Given the description of an element on the screen output the (x, y) to click on. 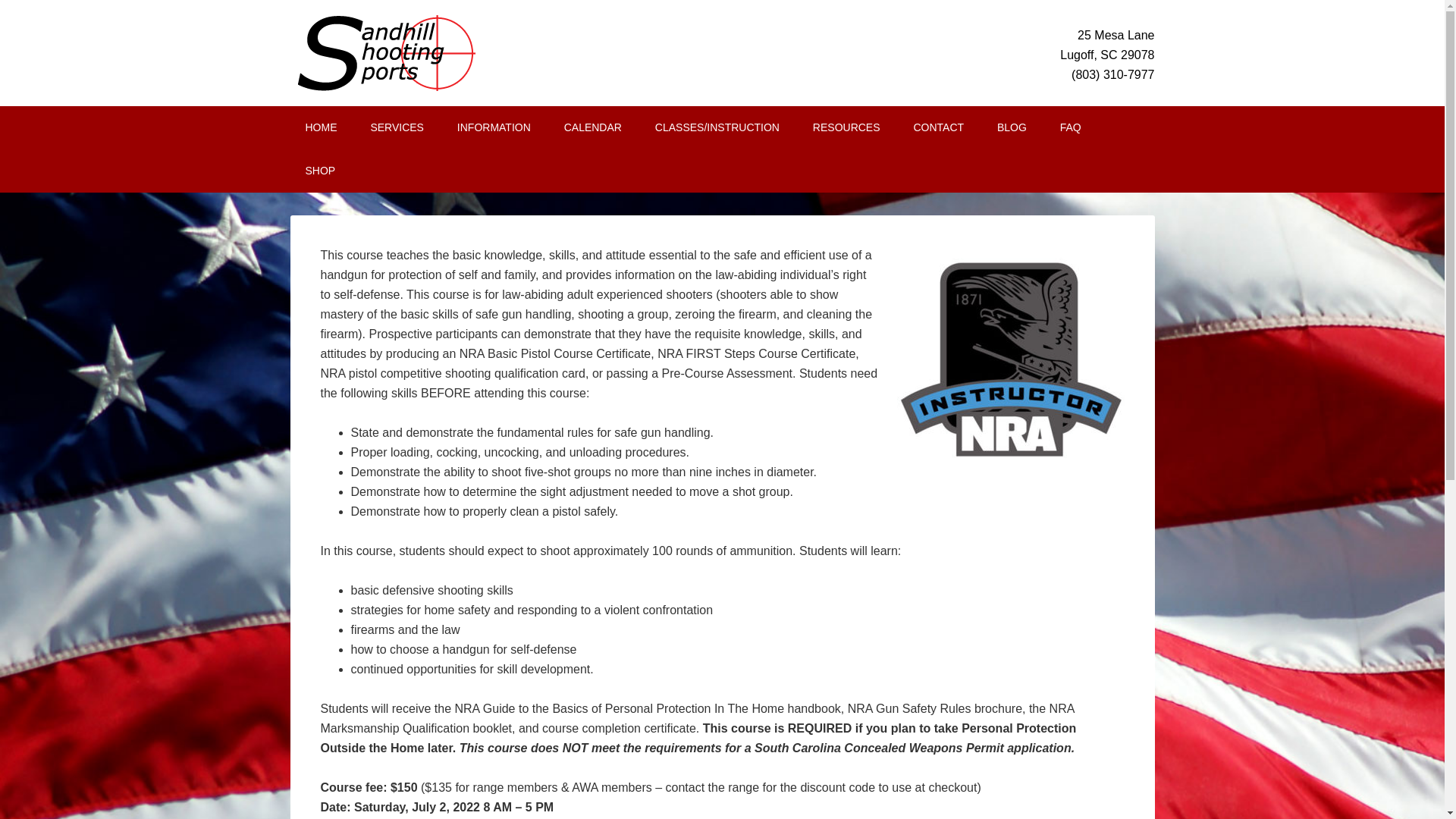
BLOG (1011, 127)
SANDHILL SHOOTING SPORTS (418, 52)
CONTACT (938, 127)
RESOURCES (846, 127)
HOME (320, 127)
CALENDAR (592, 127)
FAQ (1070, 127)
INFORMATION (494, 127)
SERVICES (397, 127)
